Given the description of an element on the screen output the (x, y) to click on. 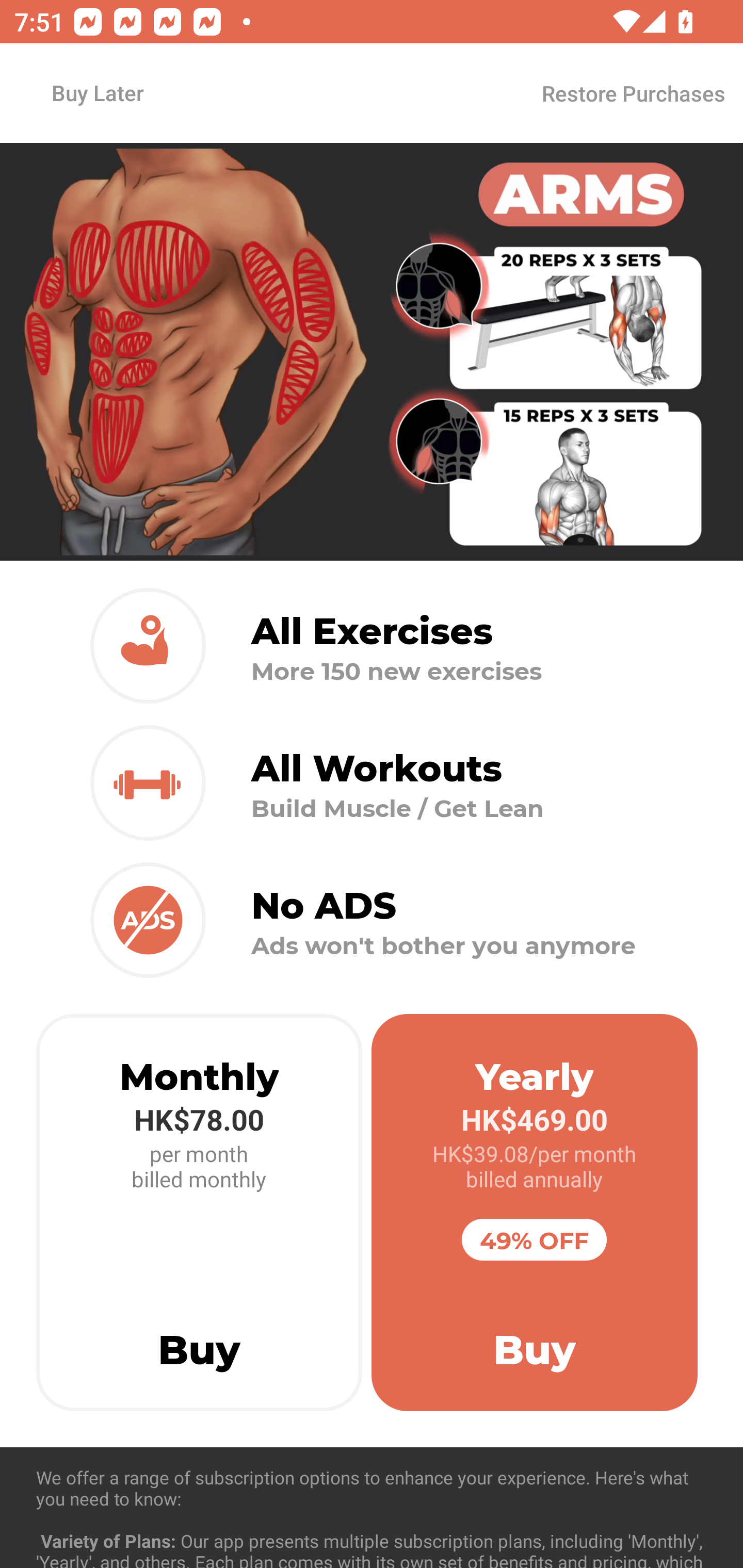
Restore Purchases (632, 92)
Buy Later (96, 92)
Monthly HK$78.00 per month
billed monthly Buy (199, 1212)
